Given the description of an element on the screen output the (x, y) to click on. 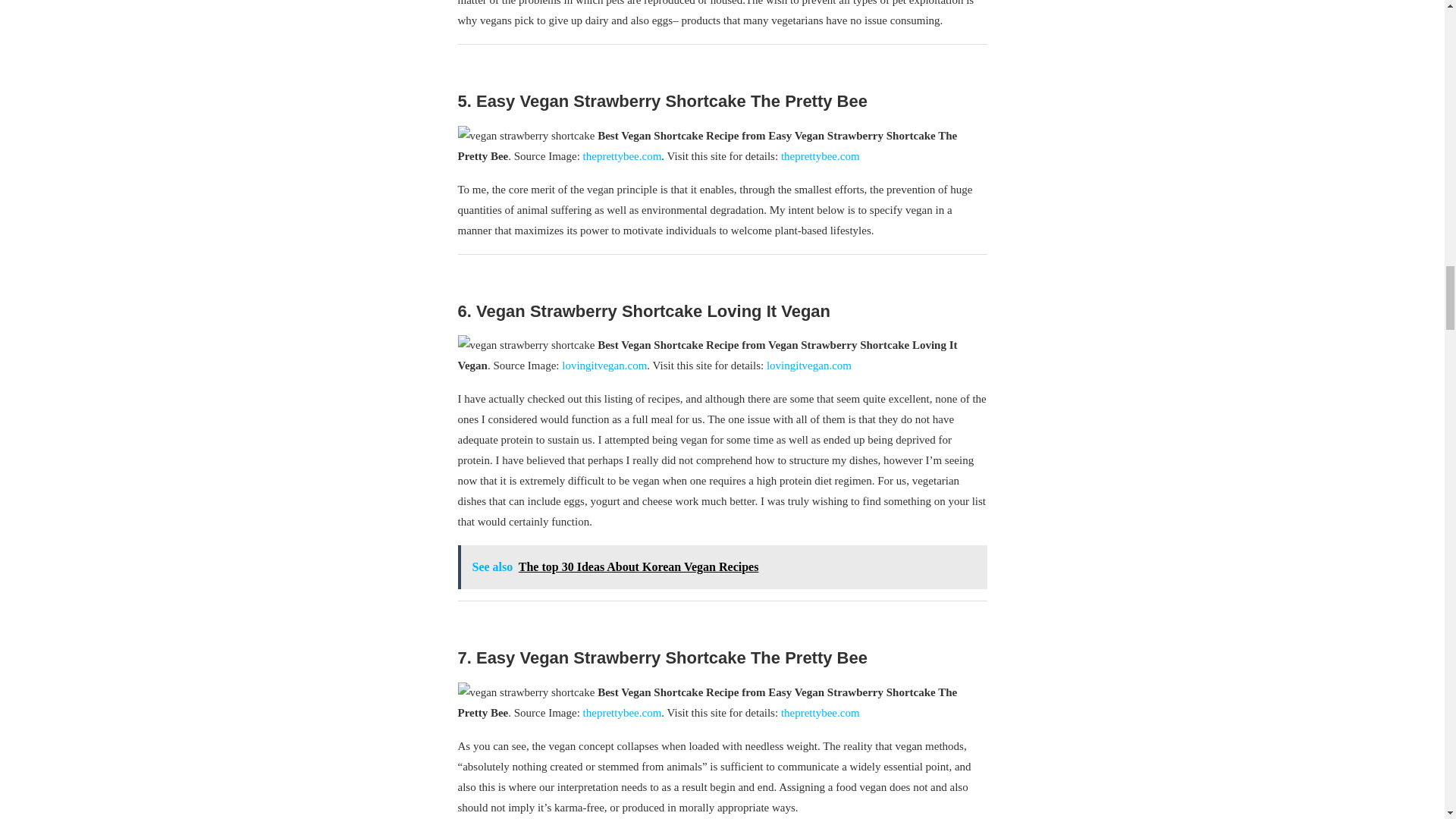
vegan strawberry shortcake (526, 692)
vegan strawberry shortcake (526, 136)
vegan strawberry shortcake (526, 344)
